Given the description of an element on the screen output the (x, y) to click on. 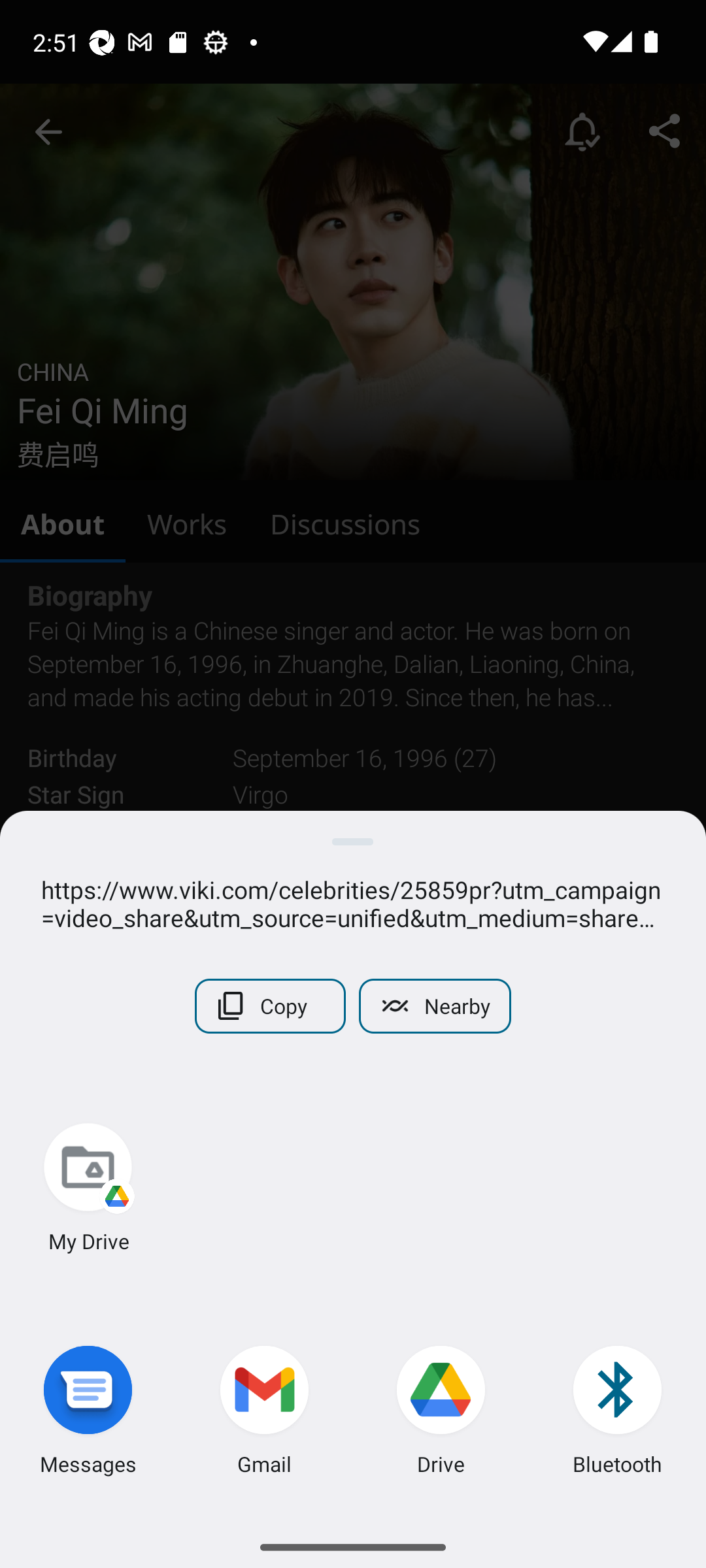
Copy (269, 1005)
Nearby (434, 1005)
My Drive  Drive My Drive (88, 1189)
Messages (88, 1414)
Gmail (264, 1414)
Drive (441, 1414)
Bluetooth (617, 1414)
